Given the description of an element on the screen output the (x, y) to click on. 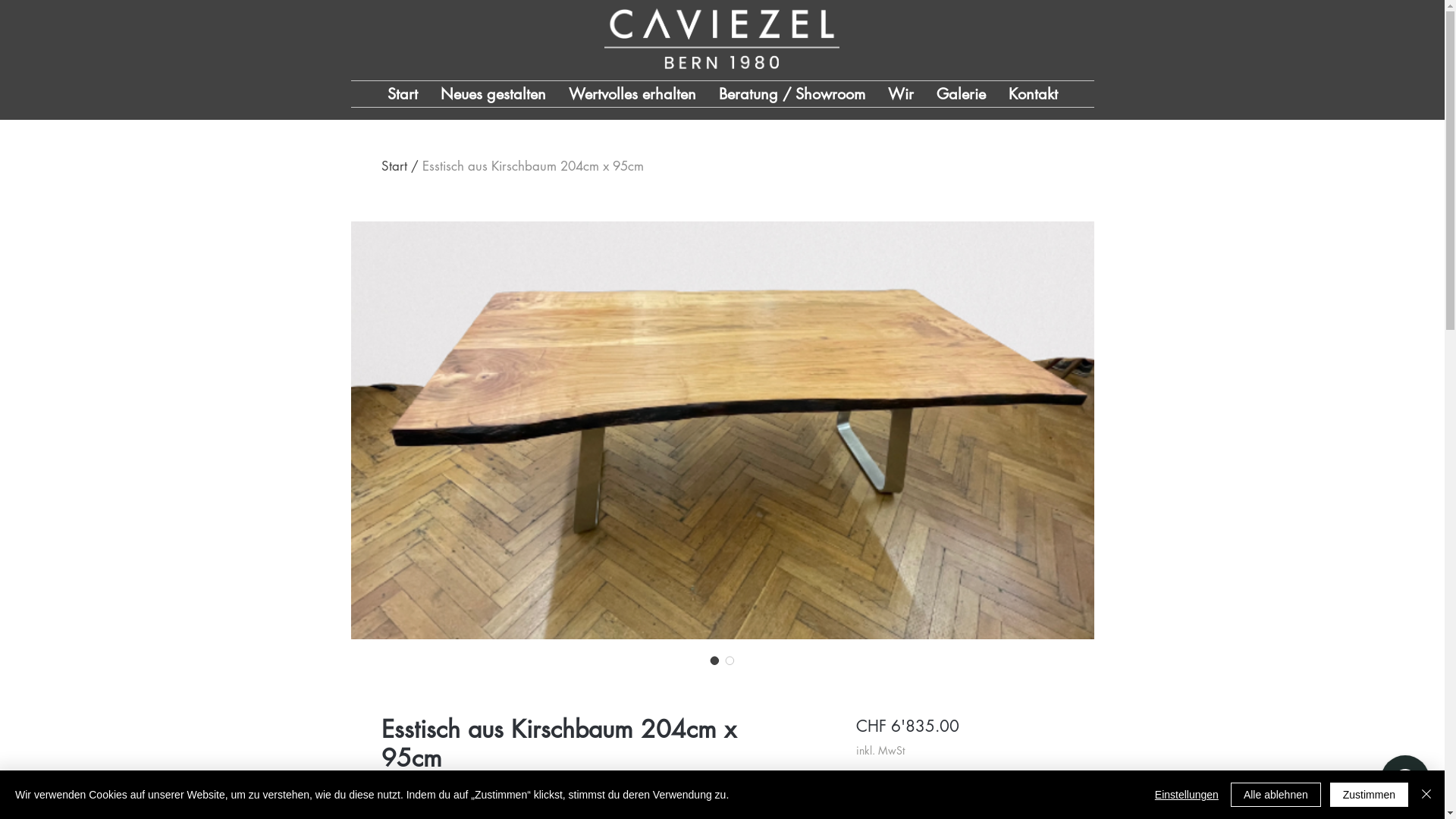
Beratung / Showroom Element type: text (790, 93)
Wertvolles erhalten Element type: text (631, 93)
Esstisch aus Kirschbaum 204cm x 95cm Element type: text (532, 165)
Wir Element type: text (900, 93)
Alle ablehnen Element type: text (1275, 794)
Zustimmen Element type: text (1369, 794)
Kontakt Element type: text (1032, 93)
Start Element type: text (393, 165)
Start Element type: text (402, 93)
Neues gestalten Element type: text (493, 93)
Galerie Element type: text (961, 93)
